Given the description of an element on the screen output the (x, y) to click on. 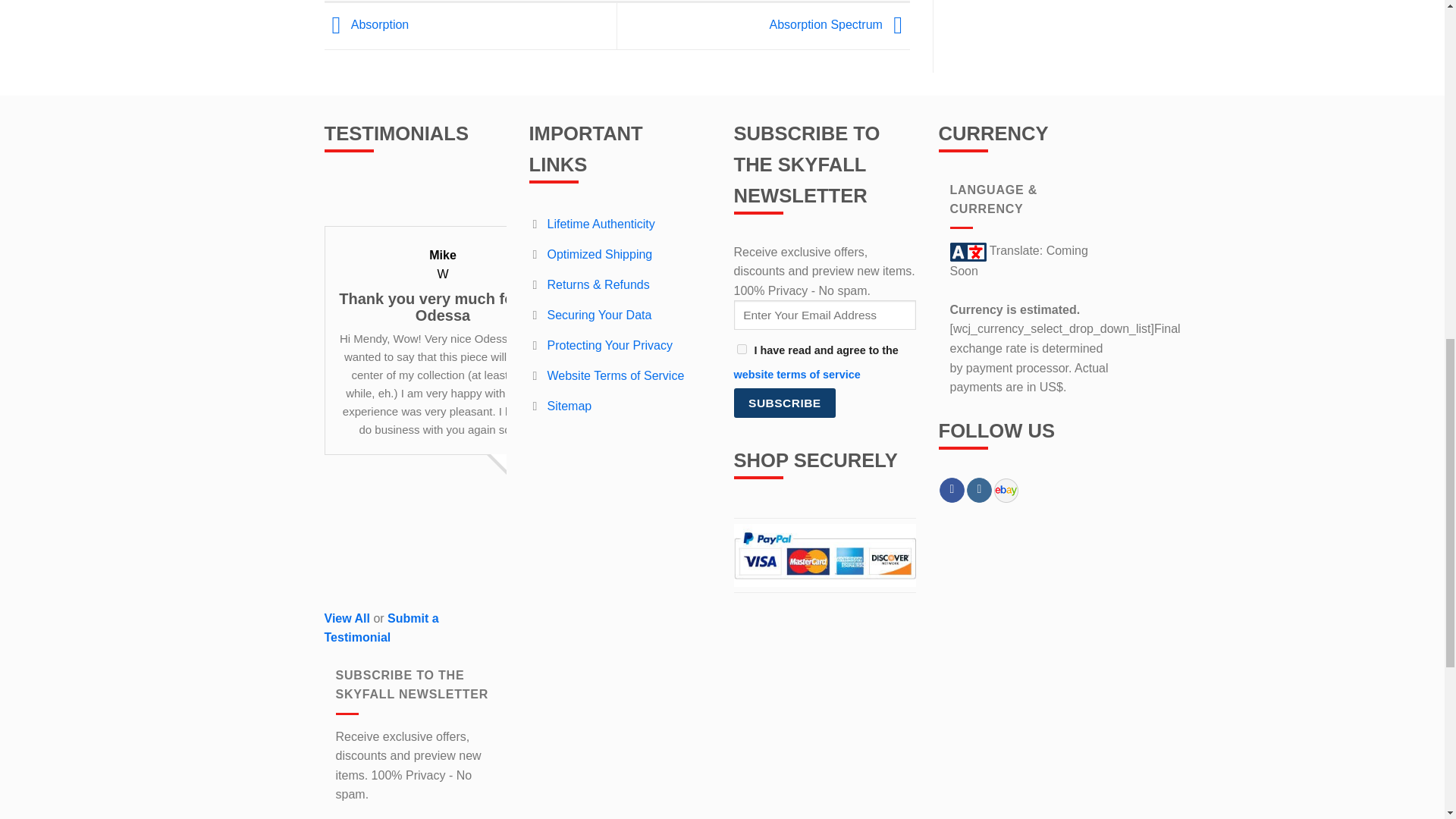
Follow on Facebook (951, 490)
1 (741, 348)
Follow on Instagram (978, 490)
Subscribe (784, 402)
Follow on Ebay (1005, 490)
How PayPal Works (824, 554)
